Given the description of an element on the screen output the (x, y) to click on. 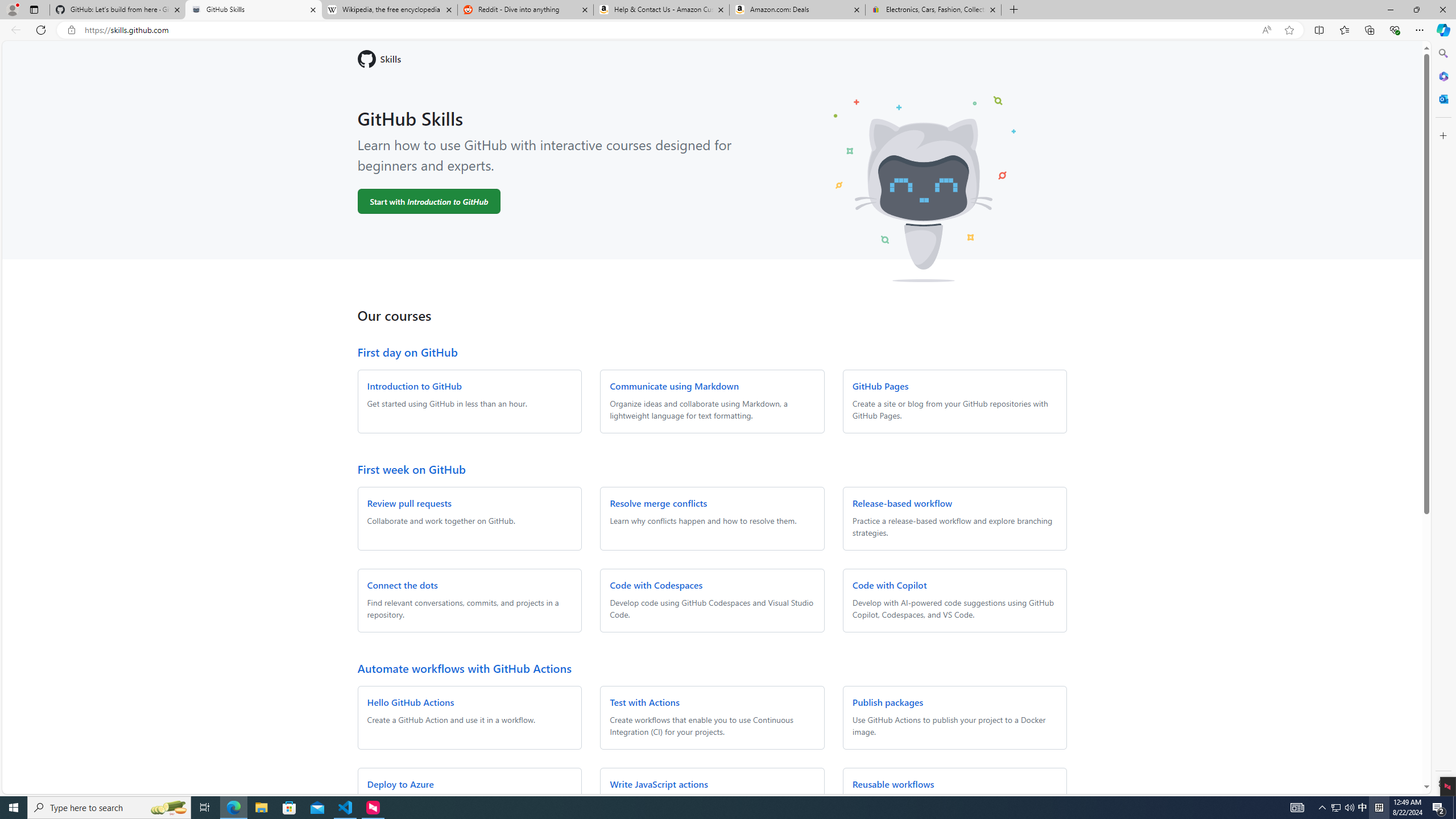
Communicate using Markdown (674, 385)
Reusable workflows (892, 784)
Introduction to GitHub (413, 385)
Publish packages (887, 702)
Wikipedia, the free encyclopedia (390, 9)
Write JavaScript actions (658, 784)
Connect the dots (402, 585)
Release-based workflow (901, 503)
